Given the description of an element on the screen output the (x, y) to click on. 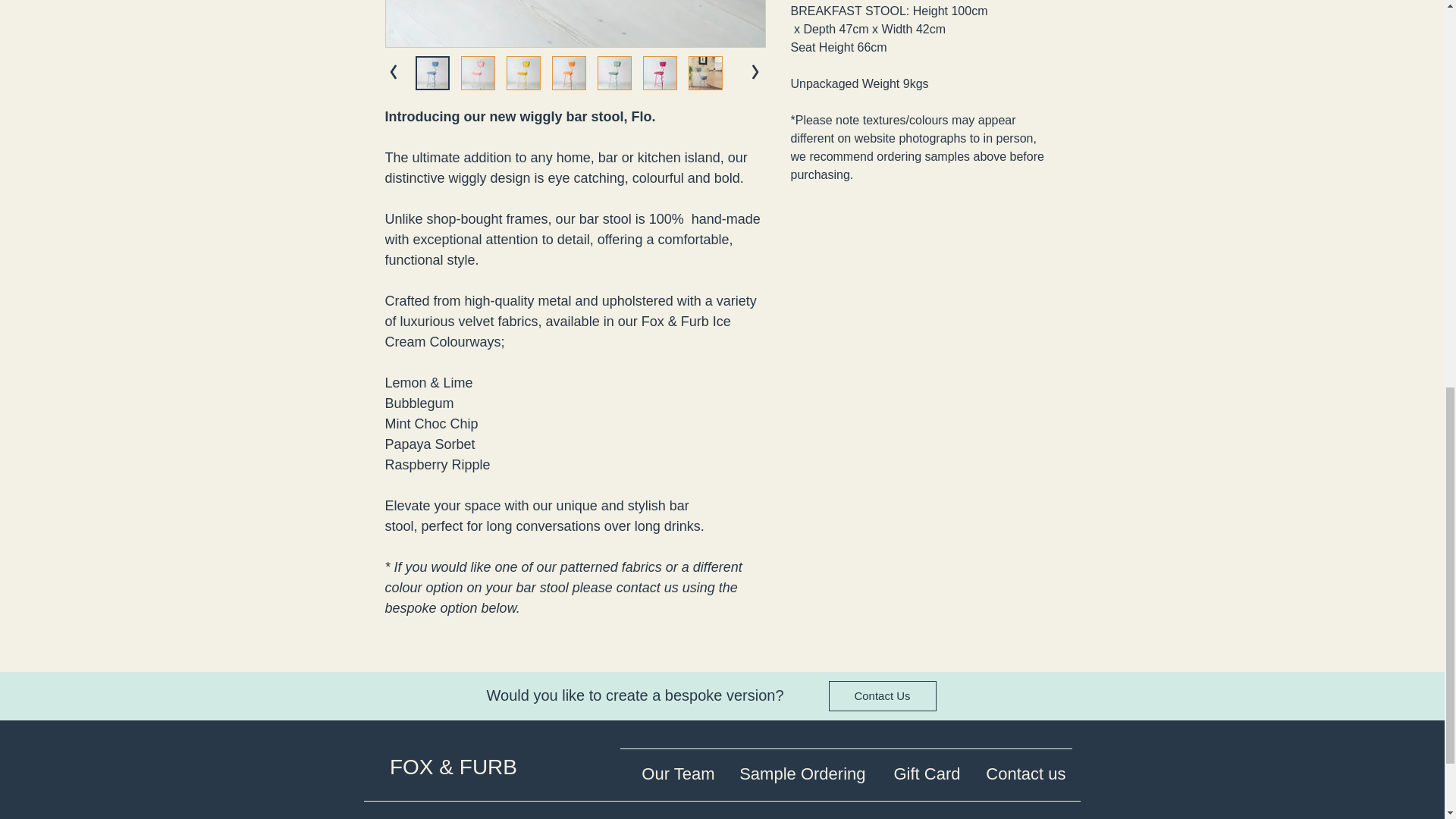
Our Team (670, 766)
Delivery Policy (992, 809)
Privacy Policy (449, 809)
Gift Card (919, 766)
Contact Us (882, 695)
Contact us (1018, 766)
Sample Ordering (795, 766)
